Given the description of an element on the screen output the (x, y) to click on. 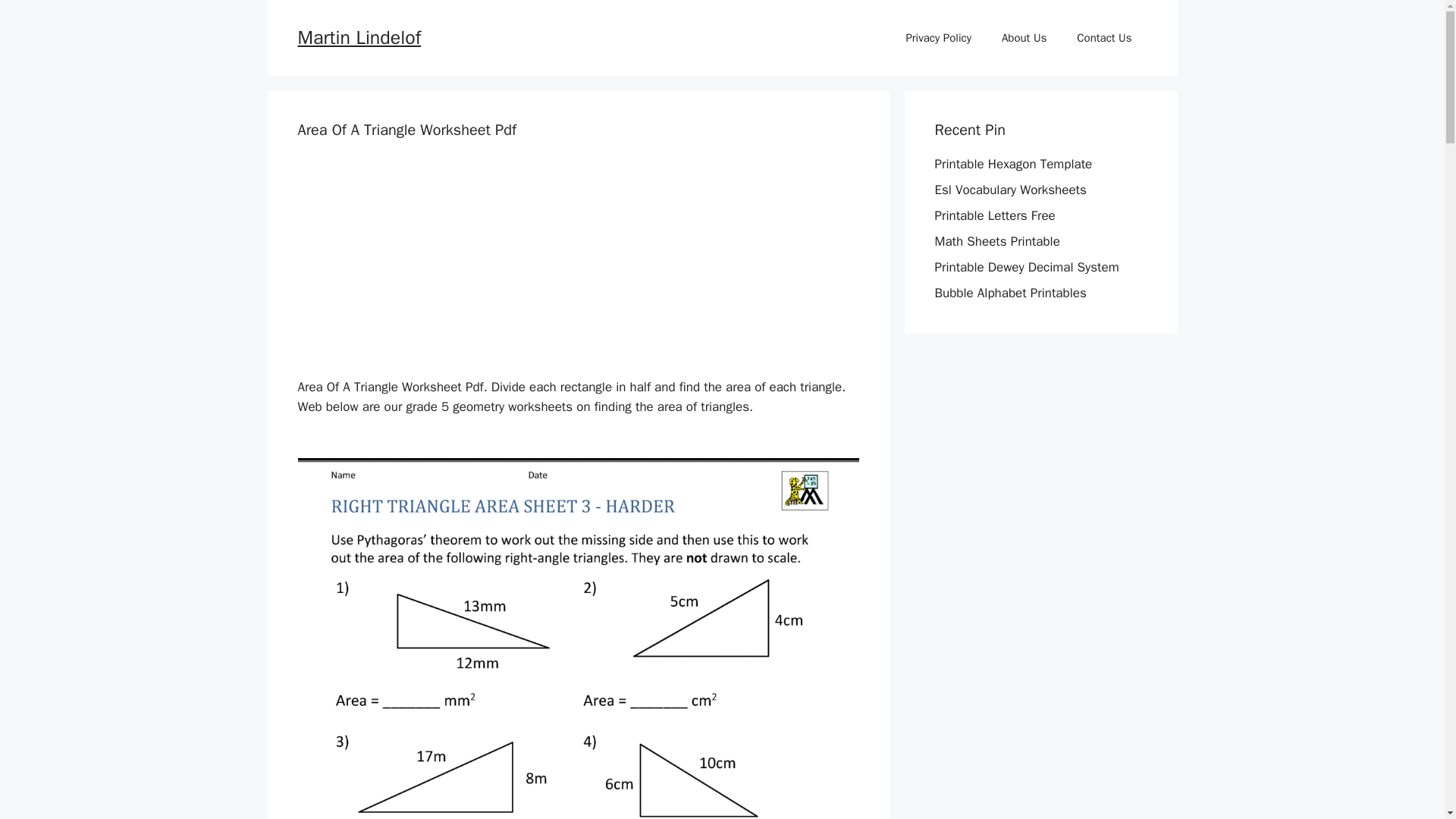
Bubble Alphabet Printables (1010, 293)
Printable Dewey Decimal System (1026, 267)
Advertisement (497, 271)
Math Sheets Printable (996, 241)
Esl Vocabulary Worksheets (1010, 189)
Contact Us (1104, 37)
About Us (1024, 37)
Printable Letters Free (994, 215)
Privacy Policy (938, 37)
Martin Lindelof (358, 37)
